Given the description of an element on the screen output the (x, y) to click on. 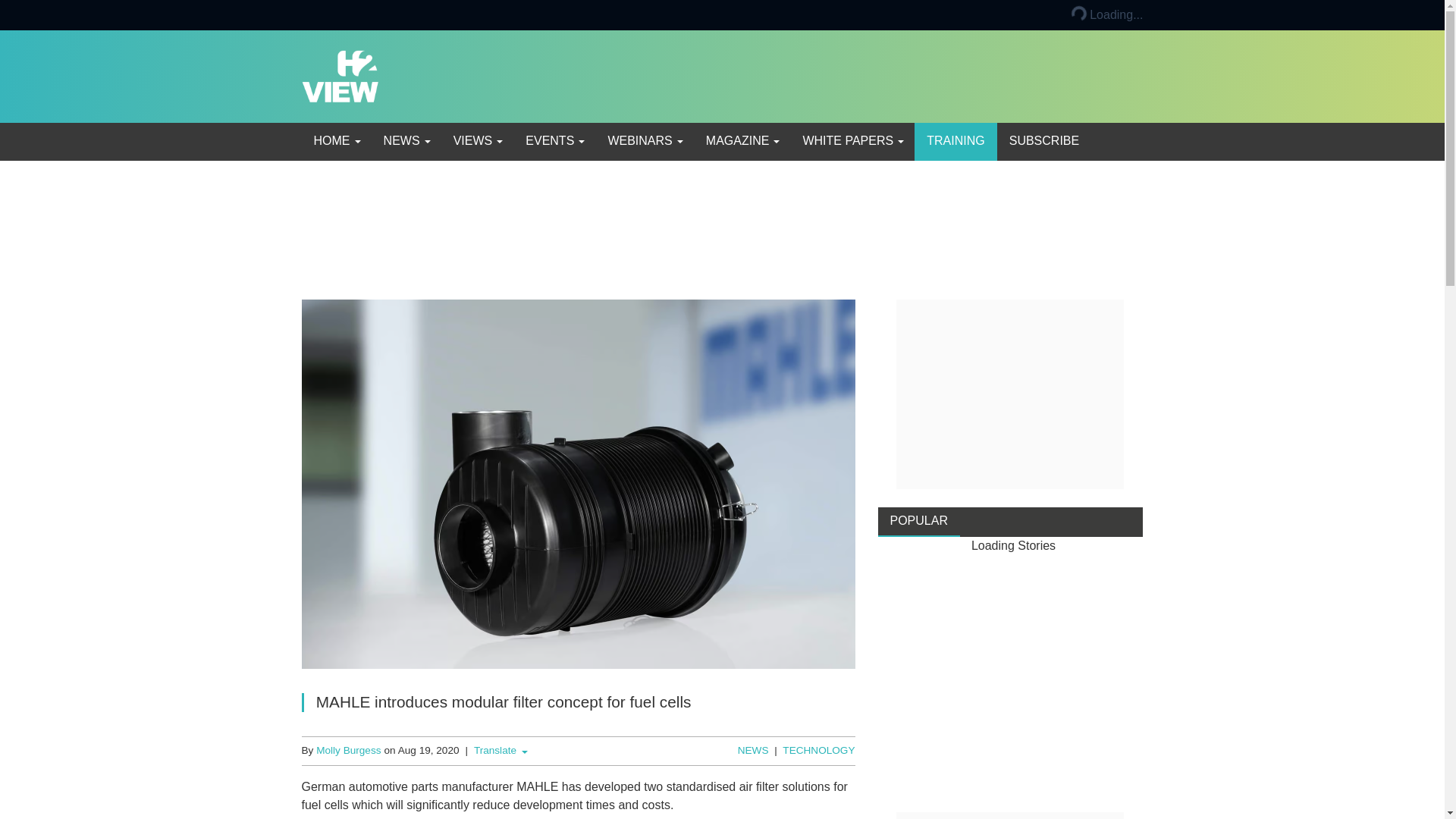
VIEWS (477, 140)
Home (336, 140)
HOME (336, 140)
NEWS (406, 140)
News (406, 140)
H2 View (339, 74)
